Given the description of an element on the screen output the (x, y) to click on. 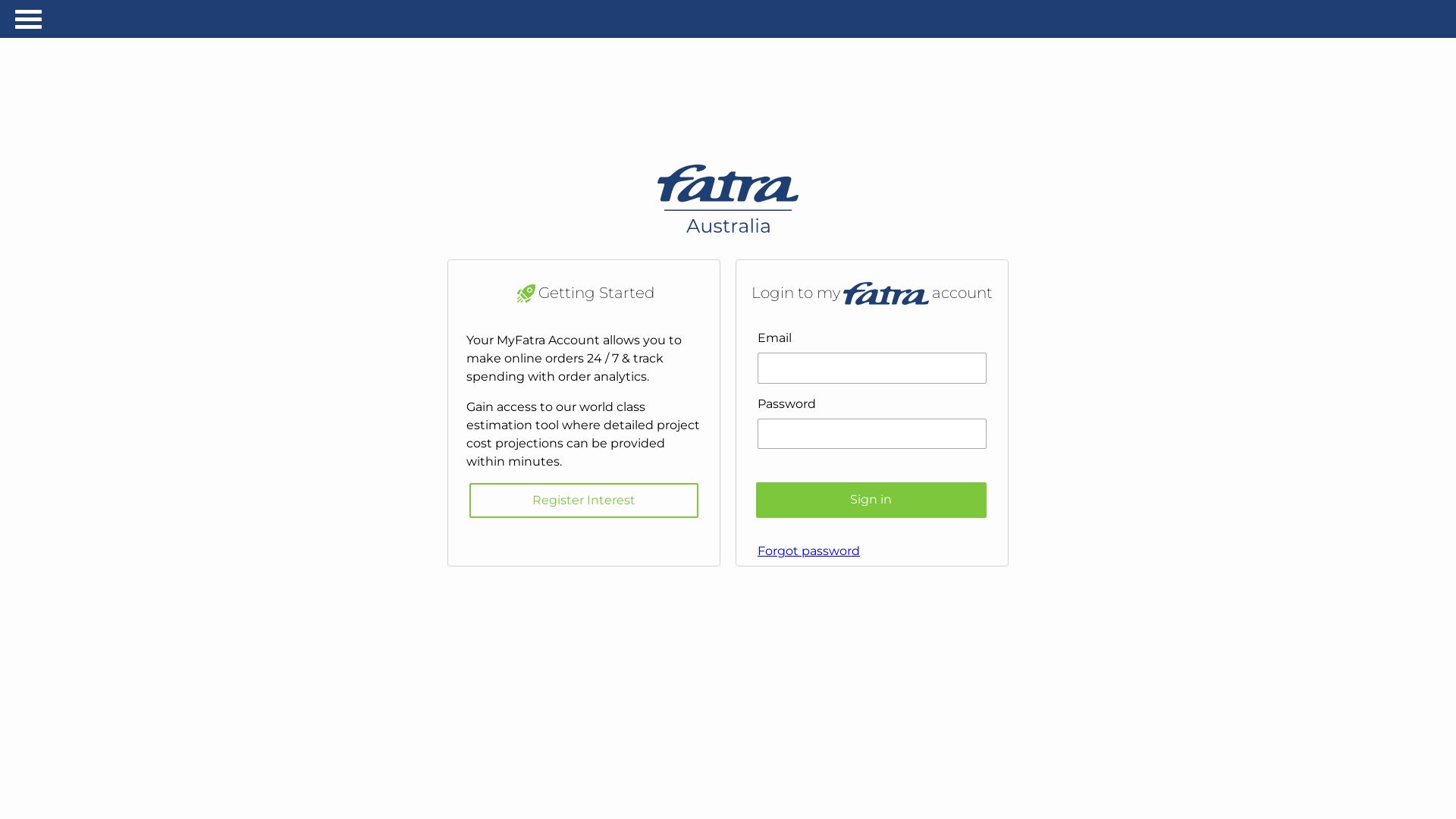
Forgot password Element type: text (871, 537)
Sign in Element type: text (871, 499)
Register Interest Element type: text (583, 500)
